Given the description of an element on the screen output the (x, y) to click on. 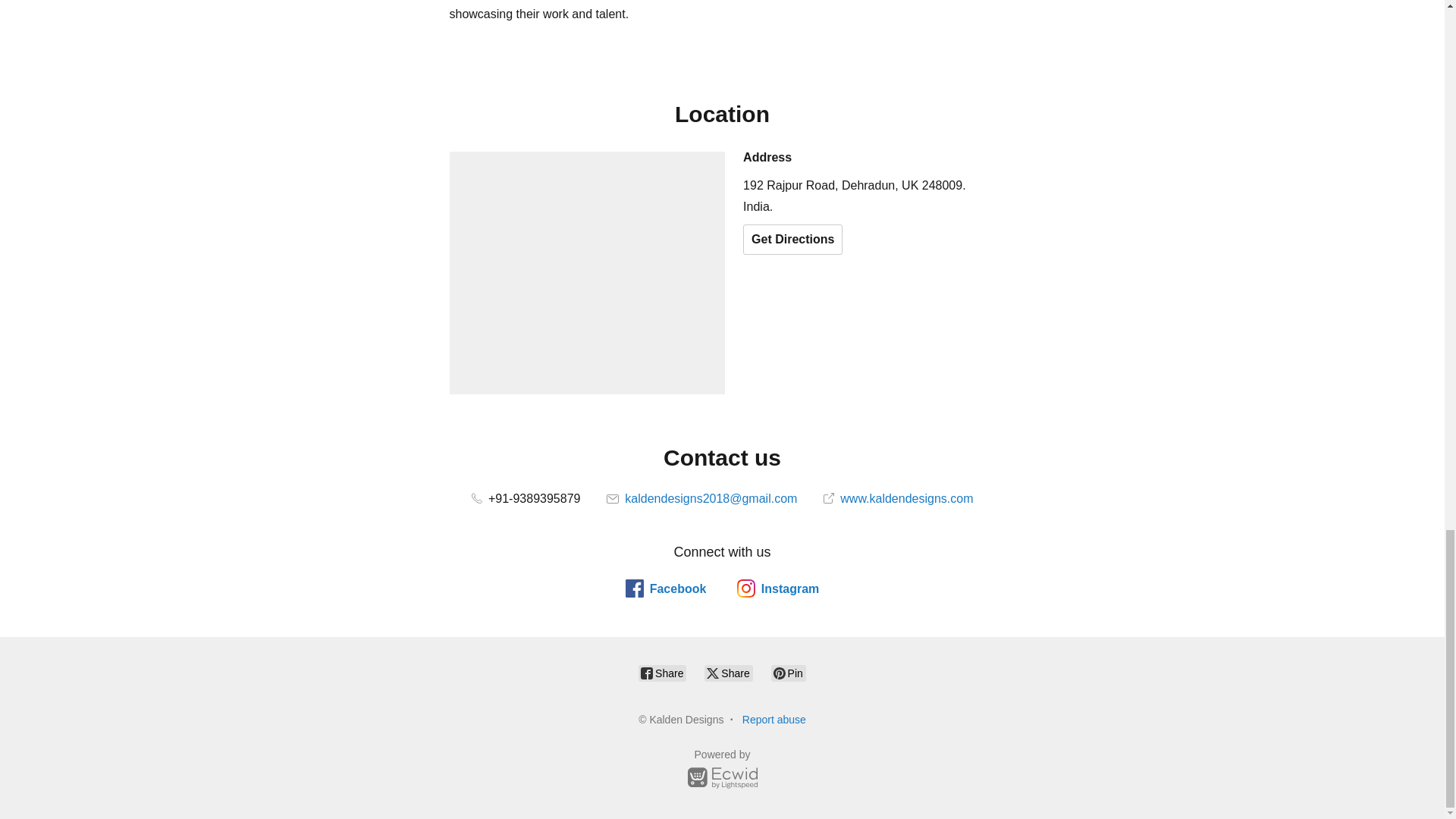
Pin (788, 673)
Report abuse (774, 719)
Powered by (722, 771)
Get Directions (792, 239)
www.kaldendesigns.com (899, 498)
Share (728, 673)
Instagram (777, 588)
Location on map (586, 272)
Share (662, 673)
Facebook (666, 588)
